Given the description of an element on the screen output the (x, y) to click on. 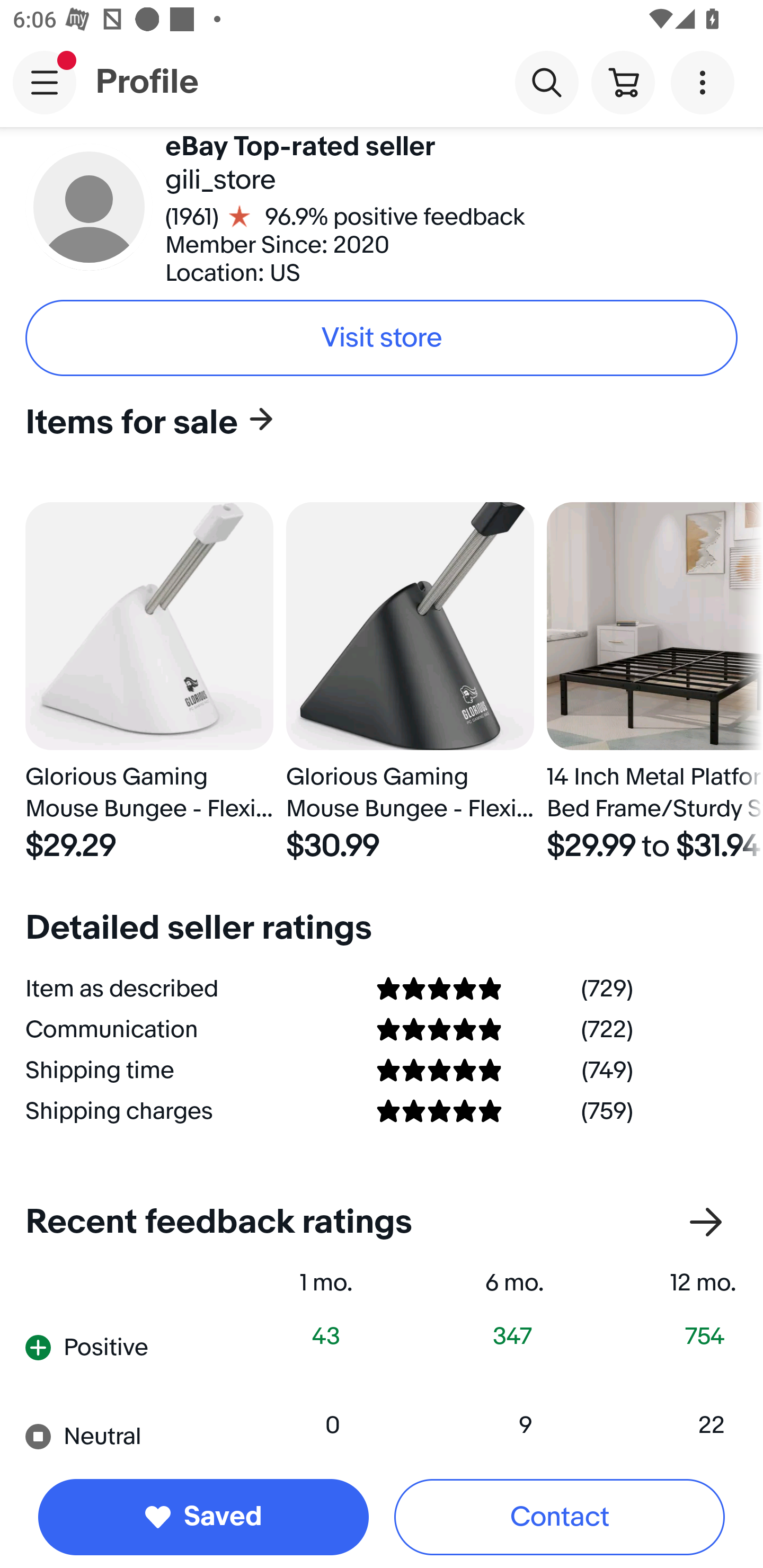
Main navigation, notification is pending, open (44, 82)
Search (546, 81)
Cart button shopping cart (623, 81)
More options (705, 81)
Visit store (381, 337)
Items for sale Items for sale   (374, 422)
Recent feedback ratings (381, 1222)
Positive Open all positive rating details. (112, 1347)
Neutral Open all neutral rating details. (112, 1432)
Saved (203, 1516)
Contact (559, 1516)
